Given the description of an element on the screen output the (x, y) to click on. 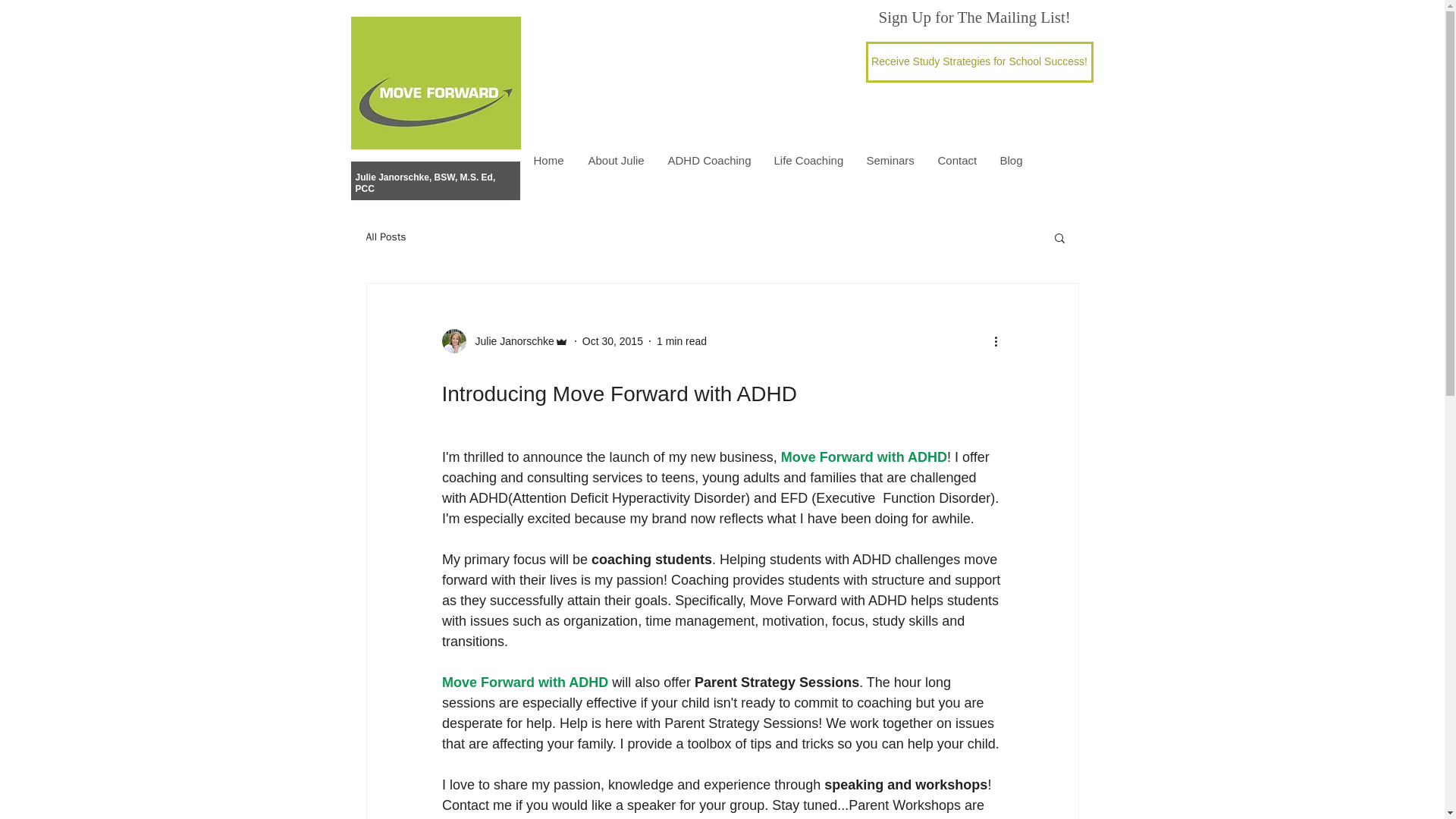
Home (548, 160)
Julie Janorschke (509, 341)
Receive Study Strategies for School Success! (979, 61)
Oct 30, 2015 (612, 340)
All Posts (385, 237)
About Julie (616, 160)
Untitled-1.png (434, 82)
Contact (957, 160)
Life Coaching (809, 160)
1 min read (681, 340)
